Given the description of an element on the screen output the (x, y) to click on. 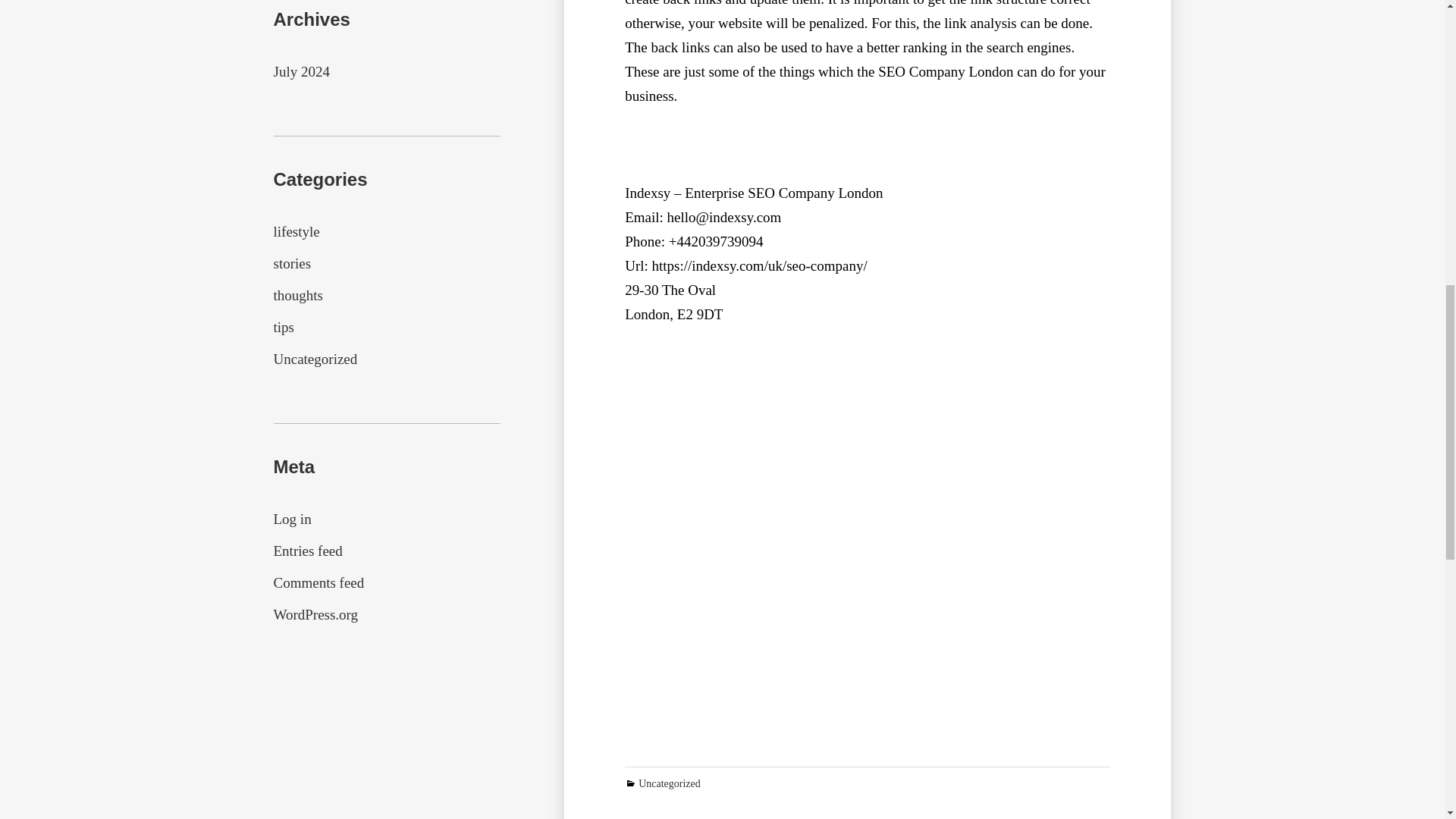
Uncategorized (314, 358)
July 2024 (301, 71)
stories (292, 263)
Entries feed (307, 550)
tips (283, 326)
Uncategorized (669, 783)
thoughts (297, 295)
lifestyle (295, 231)
Log in (292, 519)
WordPress.org (315, 614)
Comments feed (318, 582)
